Given the description of an element on the screen output the (x, y) to click on. 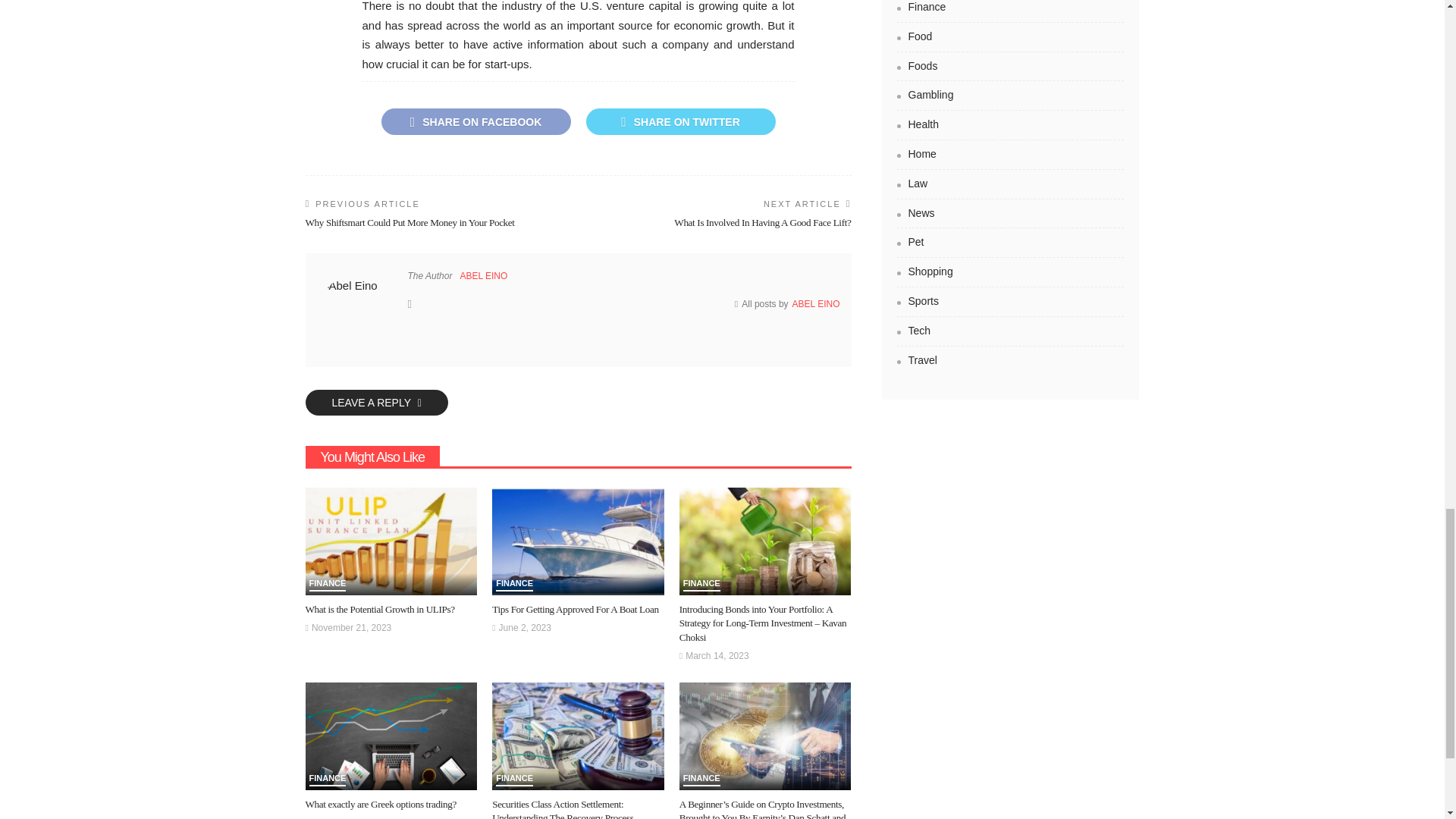
Why Shiftsmart Could Put More Money in Your Pocket (408, 222)
Finance (327, 585)
What is the Potential Growth in ULIPs? (390, 541)
What is the Potential Growth in ULIPs? (379, 609)
What Is Involved In Having A Good Face Lift? (762, 222)
